Given the description of an element on the screen output the (x, y) to click on. 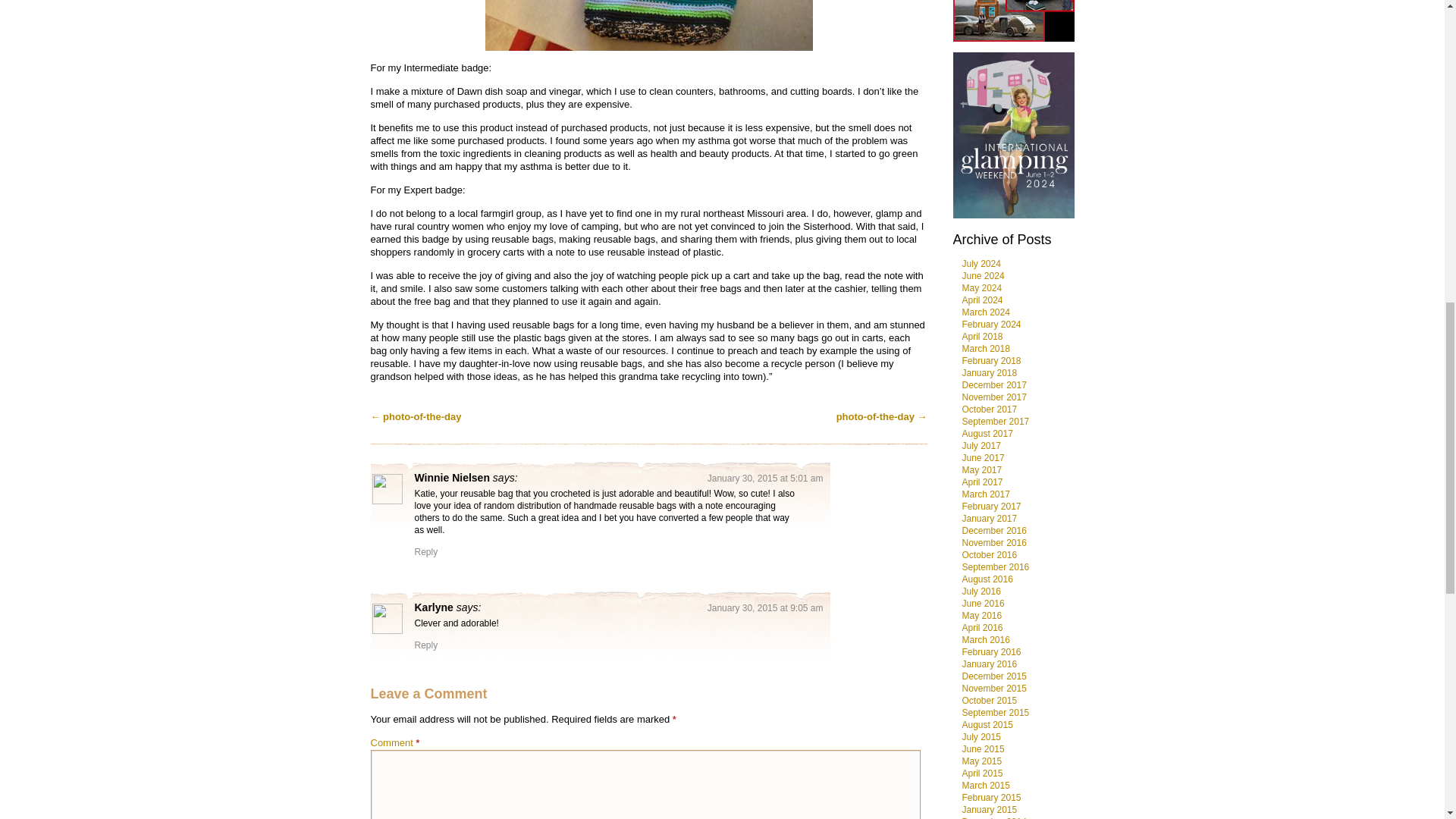
January 30, 2015 at 9:05 am (765, 607)
Reply (425, 552)
January 30, 2015 at 5:01 am (765, 478)
Reply (425, 644)
